Given the description of an element on the screen output the (x, y) to click on. 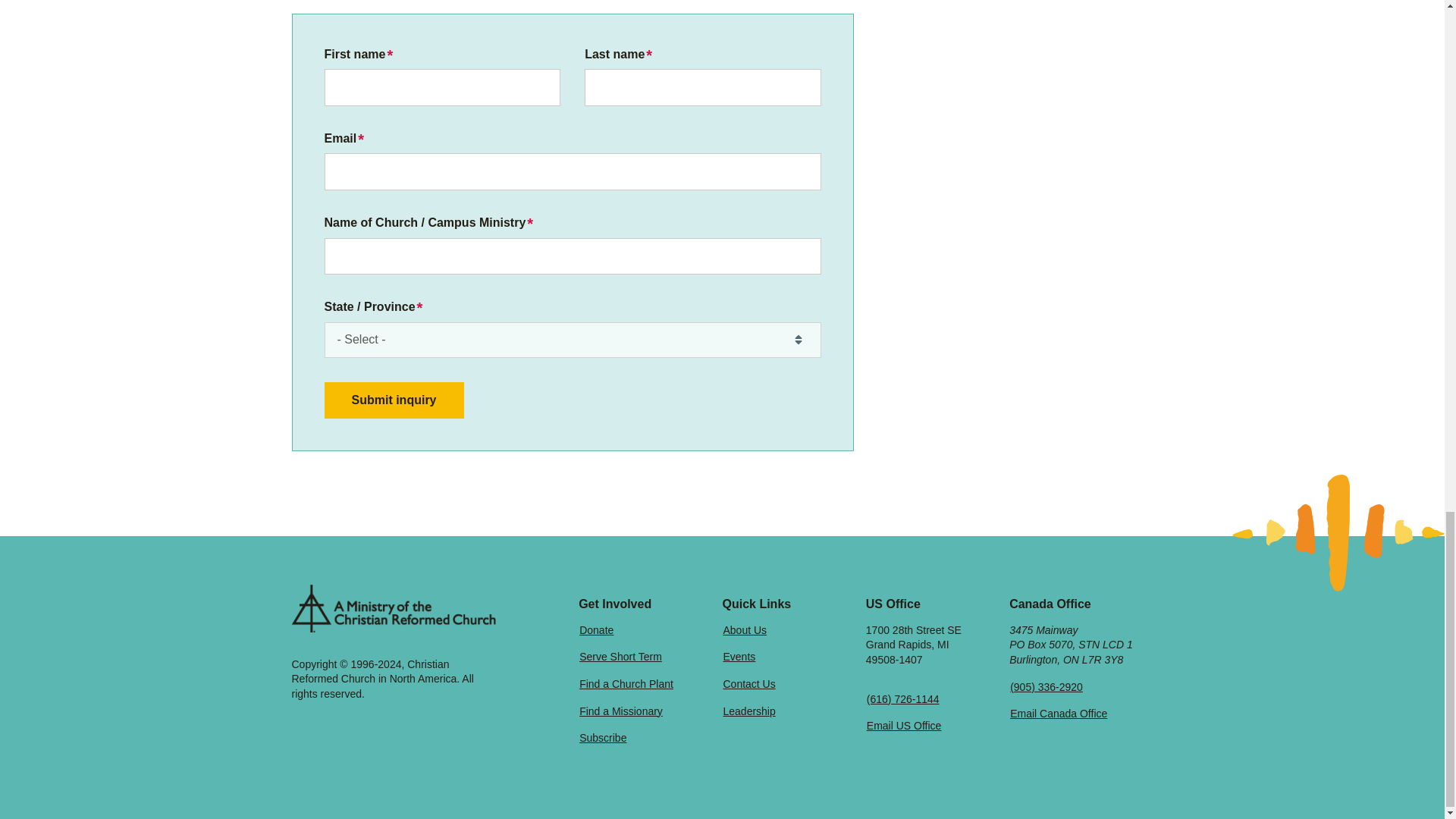
Email Canada Office (1058, 713)
Upcoming Events (738, 656)
Leadership (749, 711)
Events (738, 656)
Find a Missionary (620, 711)
Serve Short Term (620, 656)
Submit inquiry (394, 400)
Email US Office (904, 725)
Donate (596, 630)
Subscribe (602, 737)
Submit inquiry (394, 400)
Contact Us (749, 684)
About Us (744, 630)
Find a Church Plant (626, 684)
